Given the description of an element on the screen output the (x, y) to click on. 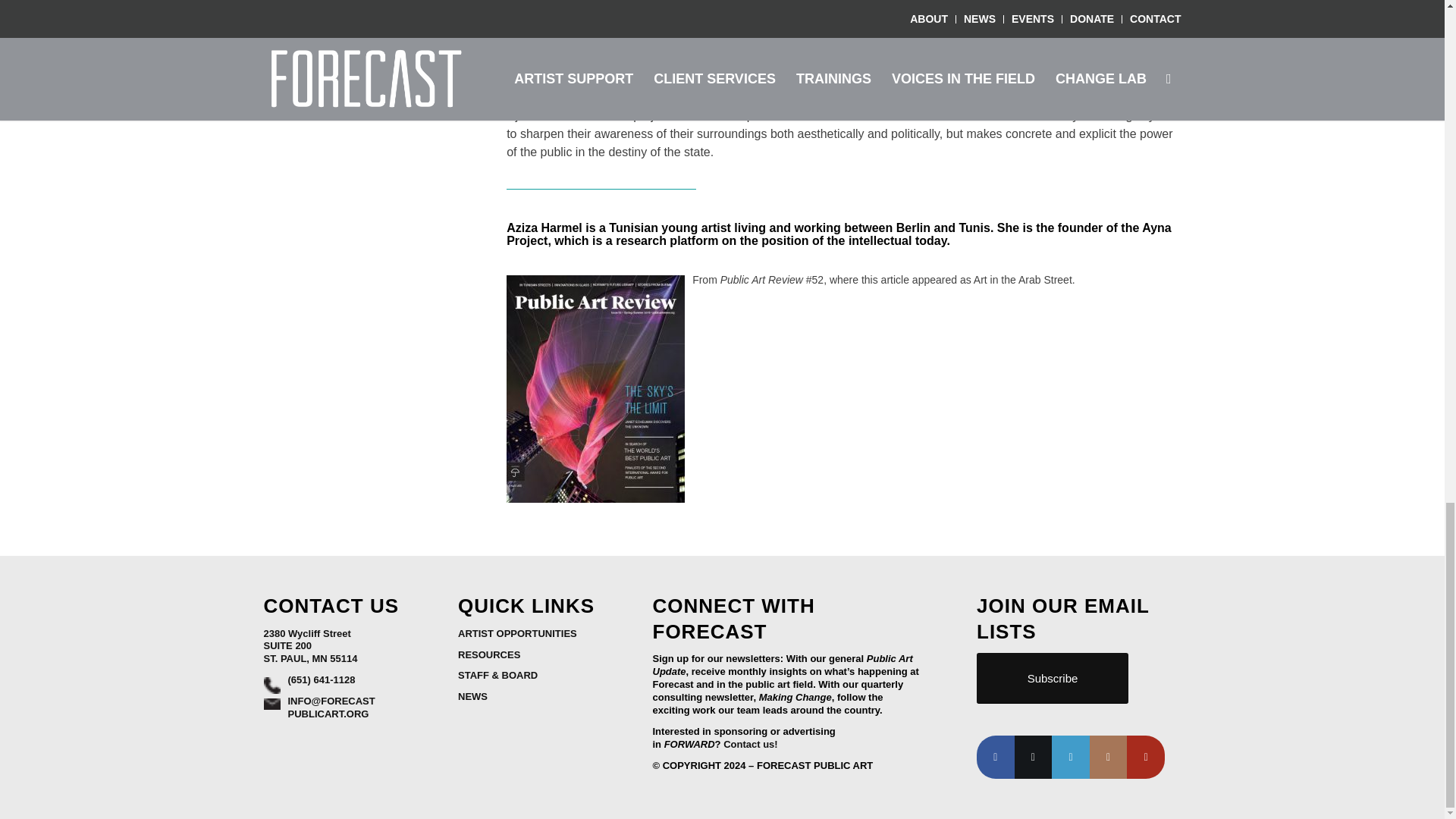
ARTIST OPPORTUNITIES (517, 633)
